Given the description of an element on the screen output the (x, y) to click on. 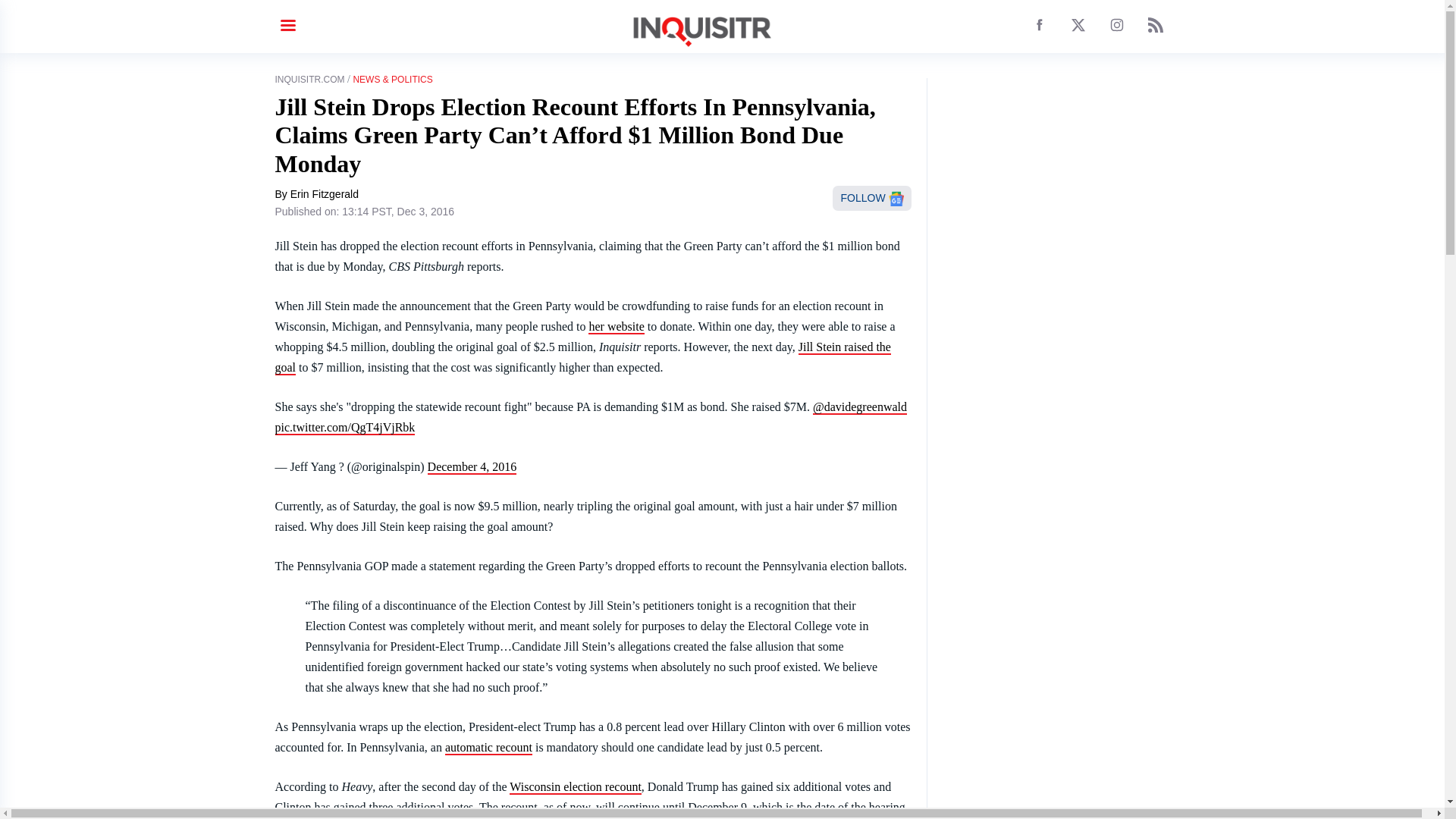
INQUISITR.COM (309, 79)
